Given the description of an element on the screen output the (x, y) to click on. 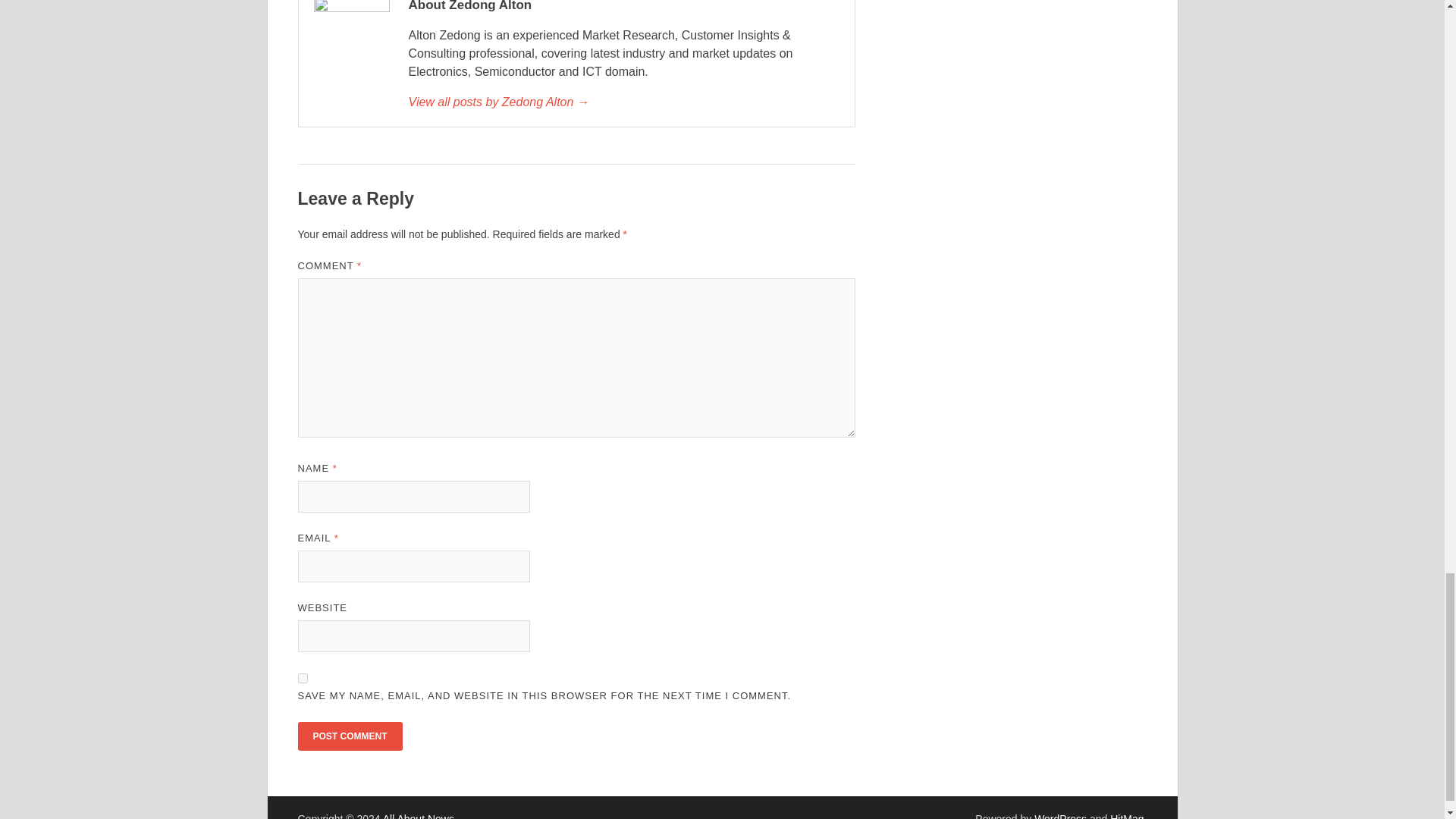
Zedong Alton (622, 102)
yes (302, 678)
Post Comment (349, 736)
